Given the description of an element on the screen output the (x, y) to click on. 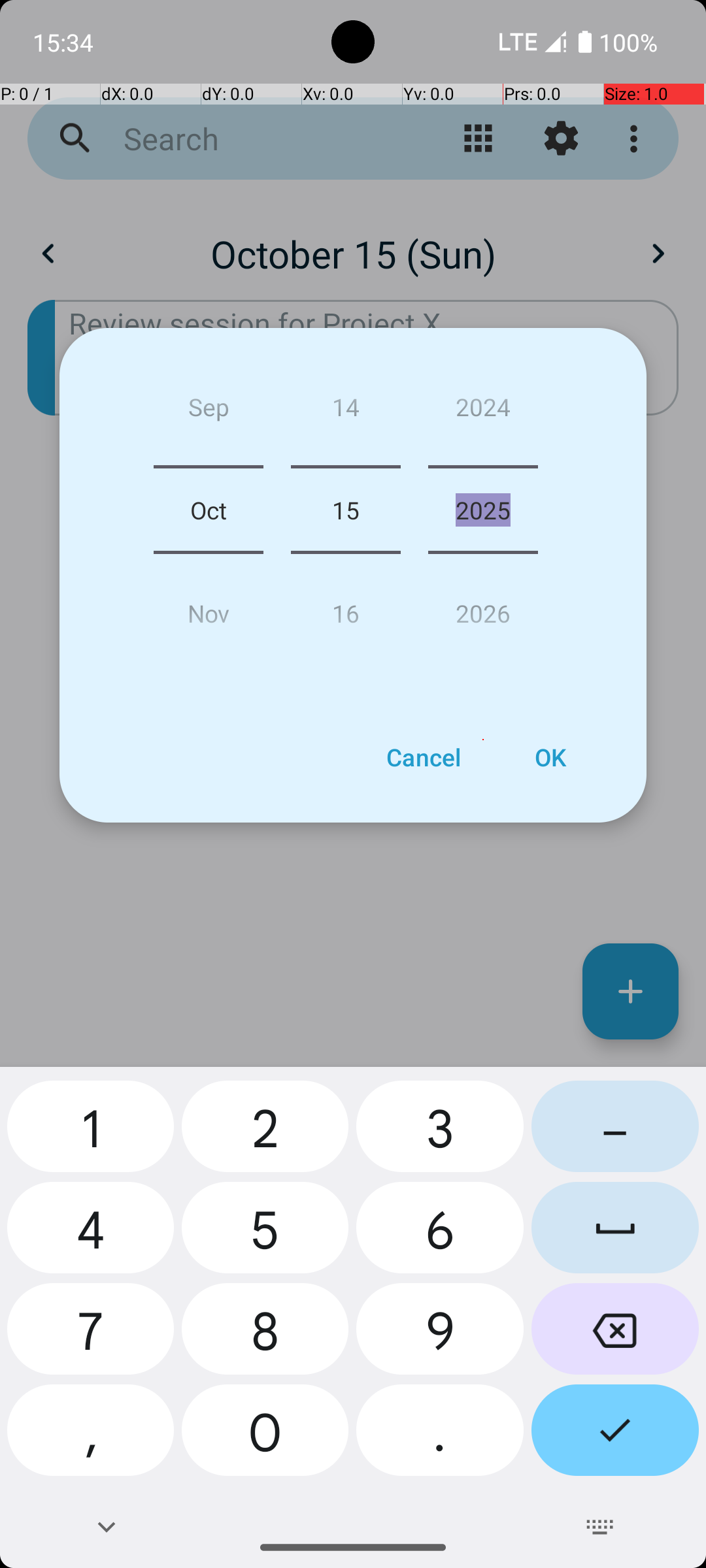
2025 Element type: android.widget.EditText (482, 509)
2026 Element type: android.widget.Button (482, 607)
